Given the description of an element on the screen output the (x, y) to click on. 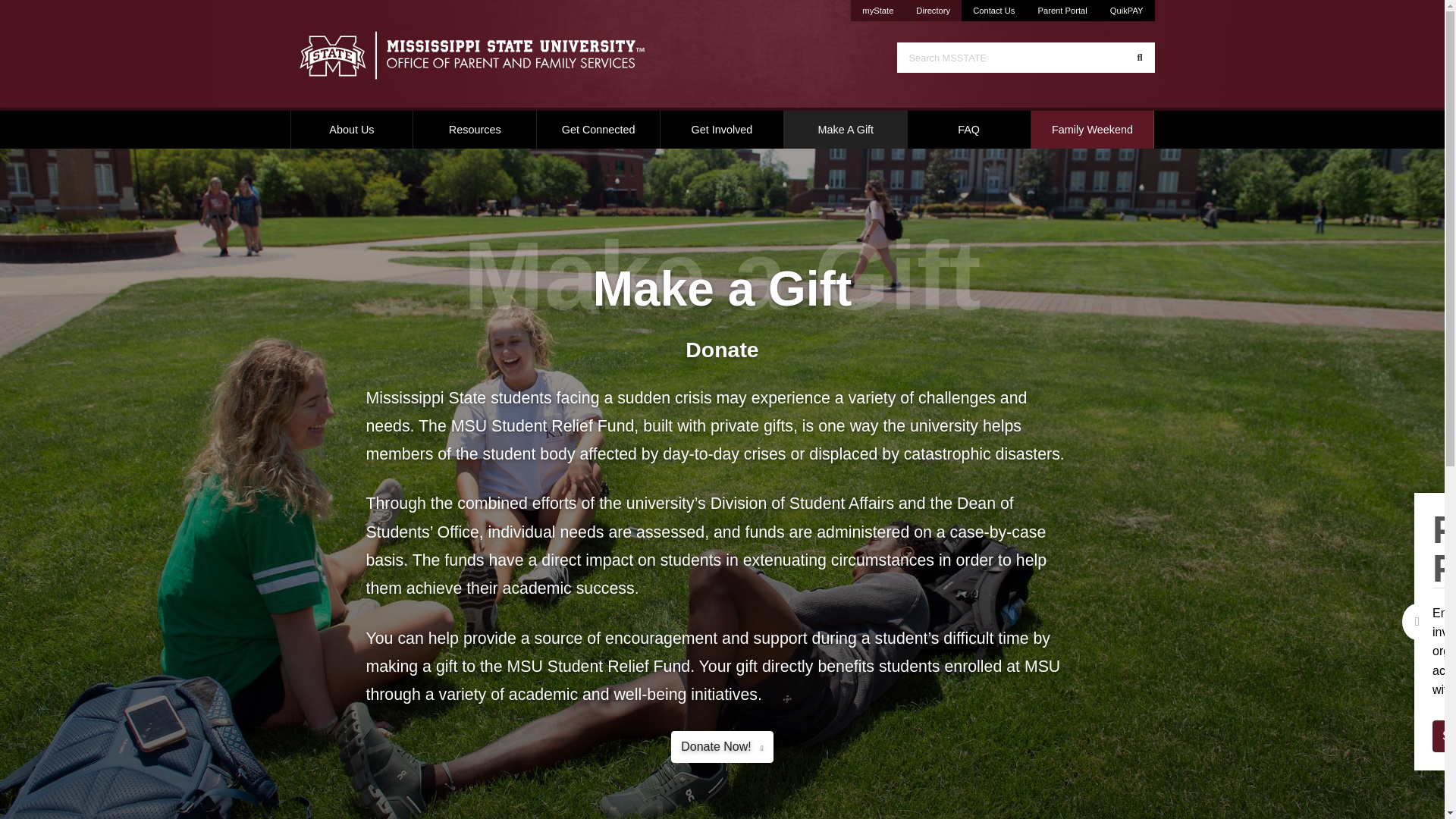
Office of Parent and Family Services (877, 10)
Search (932, 10)
